Given the description of an element on the screen output the (x, y) to click on. 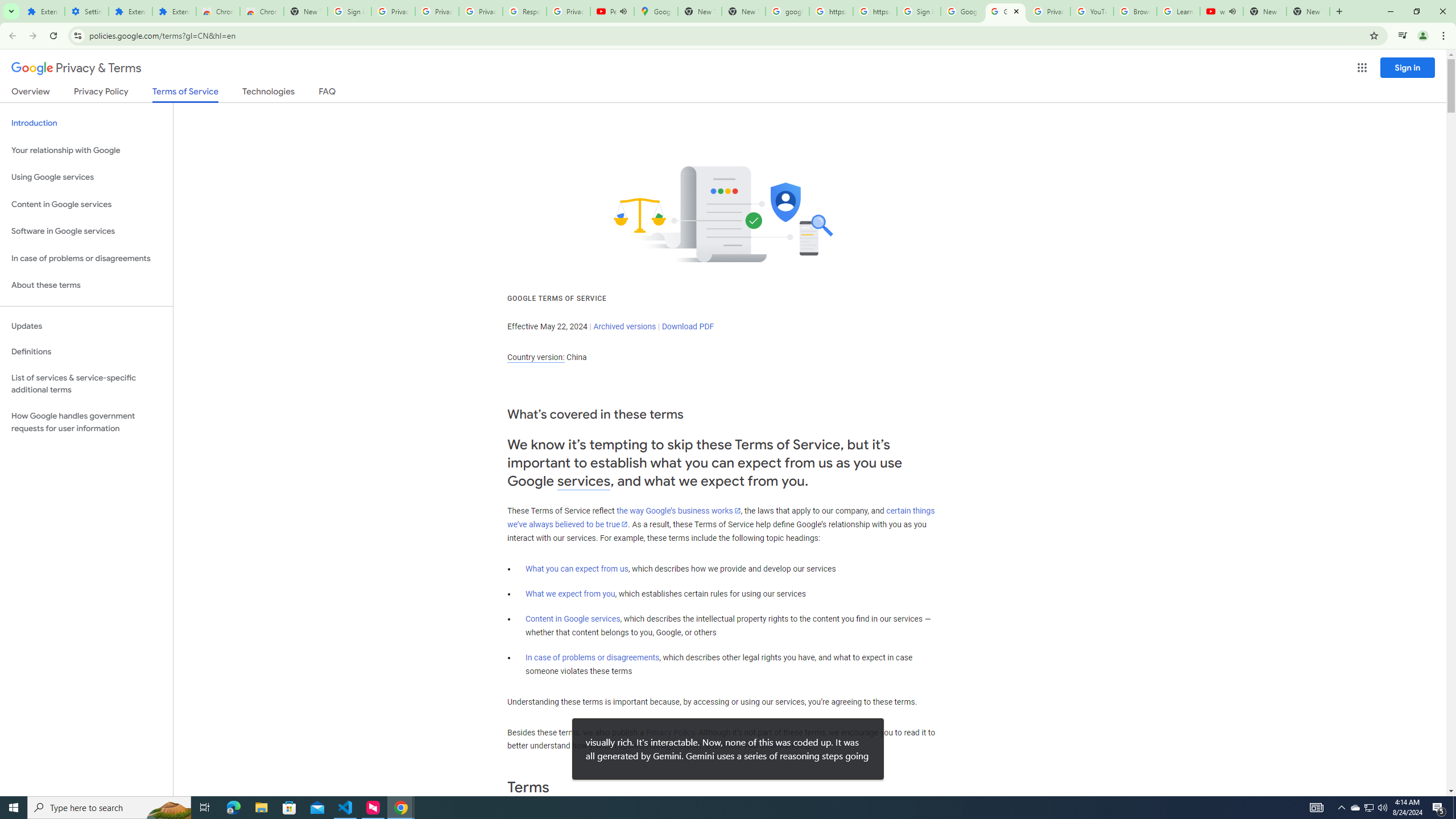
What you can expect from us (576, 568)
Personalized AI for you | Gemini - YouTube - Audio playing (612, 11)
Definitions (86, 352)
Sign in - Google Accounts (349, 11)
Country version: (535, 357)
In case of problems or disagreements (592, 657)
